Given the description of an element on the screen output the (x, y) to click on. 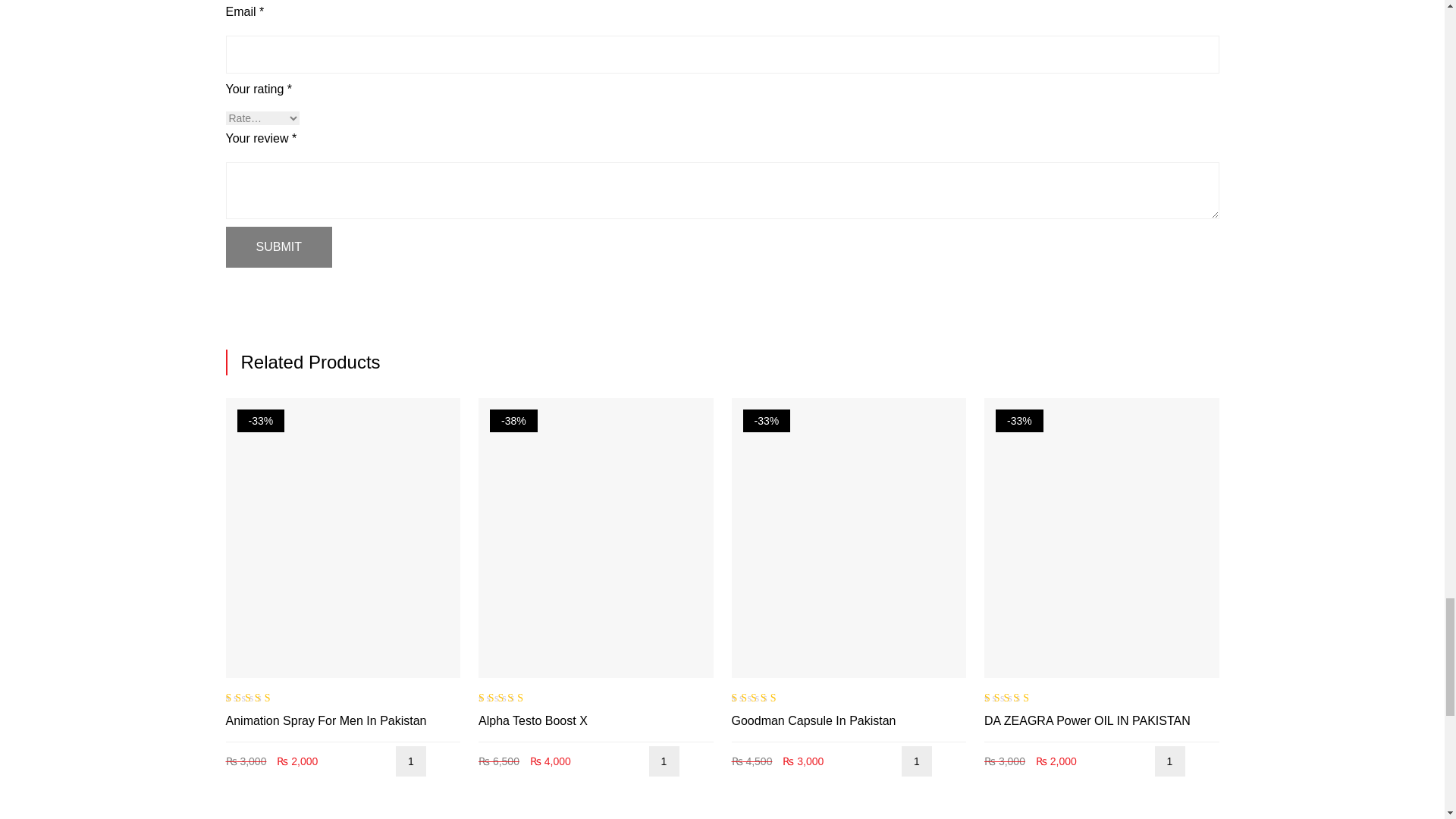
Submit (278, 246)
1 (664, 761)
1 (1169, 761)
1 (411, 761)
1 (916, 761)
